Given the description of an element on the screen output the (x, y) to click on. 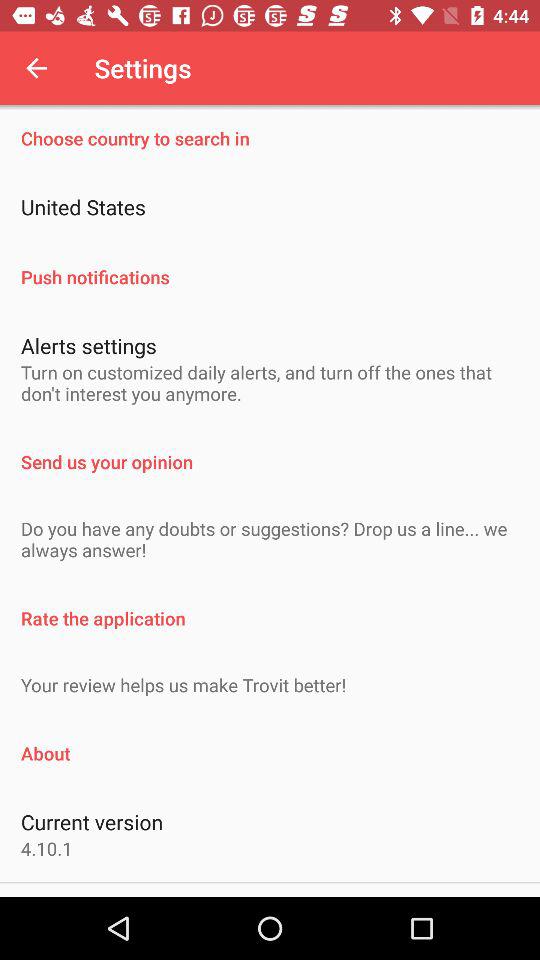
choose the item above choose country to icon (36, 68)
